Given the description of an element on the screen output the (x, y) to click on. 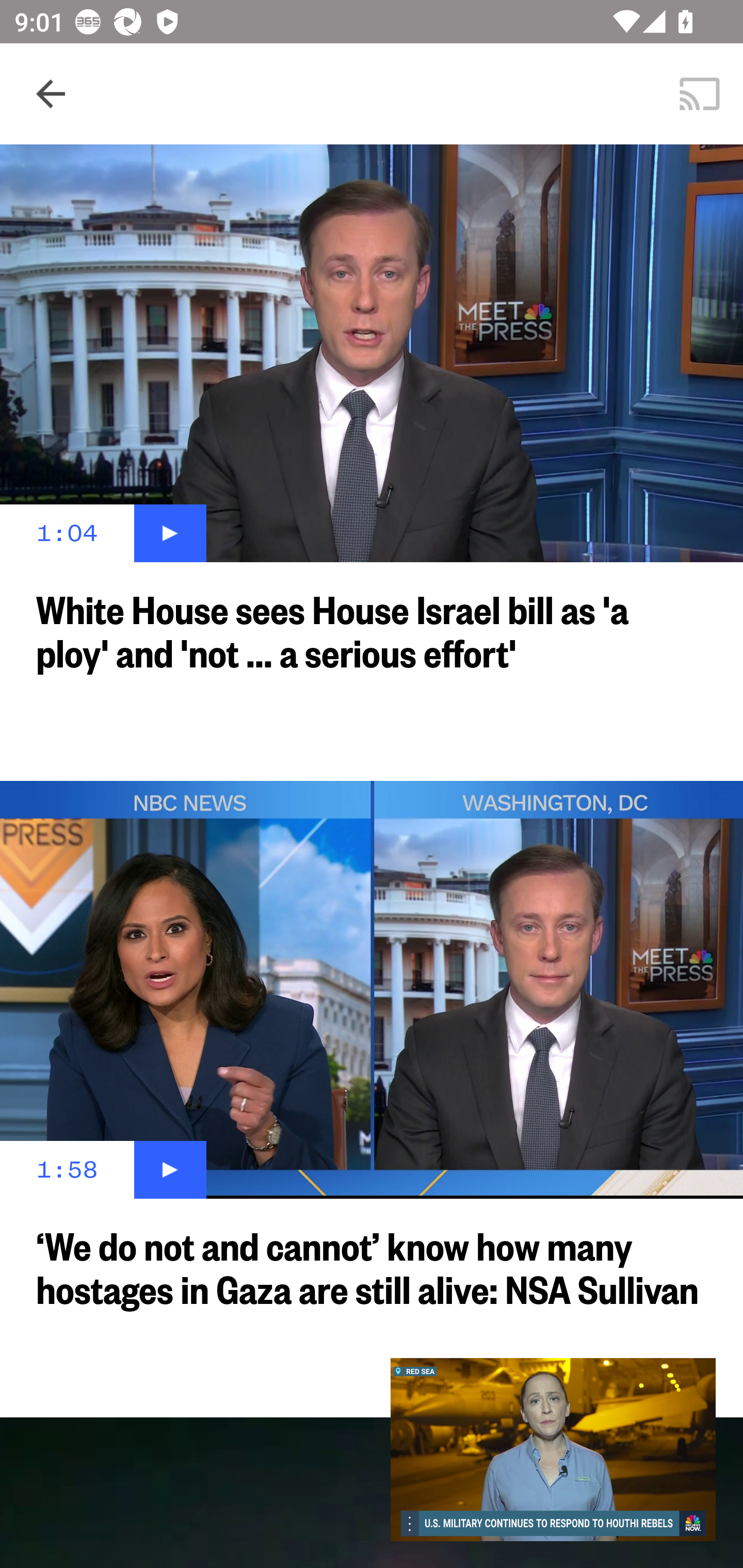
Navigate up (50, 93)
Cast. Disconnected (699, 93)
